Given the description of an element on the screen output the (x, y) to click on. 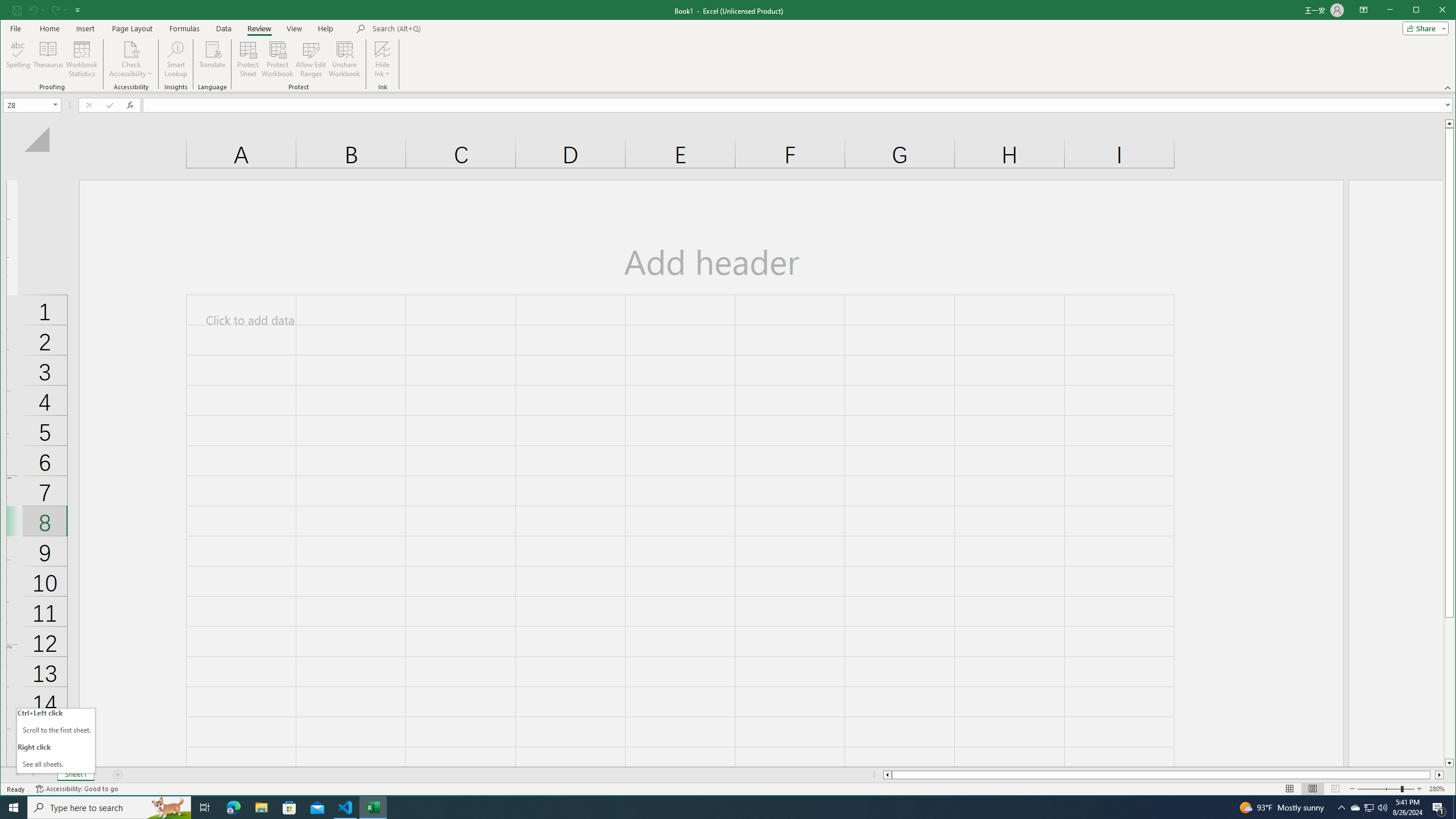
Smart Lookup (176, 59)
Workbook Statistics (82, 59)
Class: MsoCommandBar (728, 45)
Visual Studio Code - 1 running window (345, 807)
Formula Bar (799, 104)
Q2790: 100% (1382, 807)
Search highlights icon opens search home window (167, 807)
Notification Chevron (1341, 807)
